Given the description of an element on the screen output the (x, y) to click on. 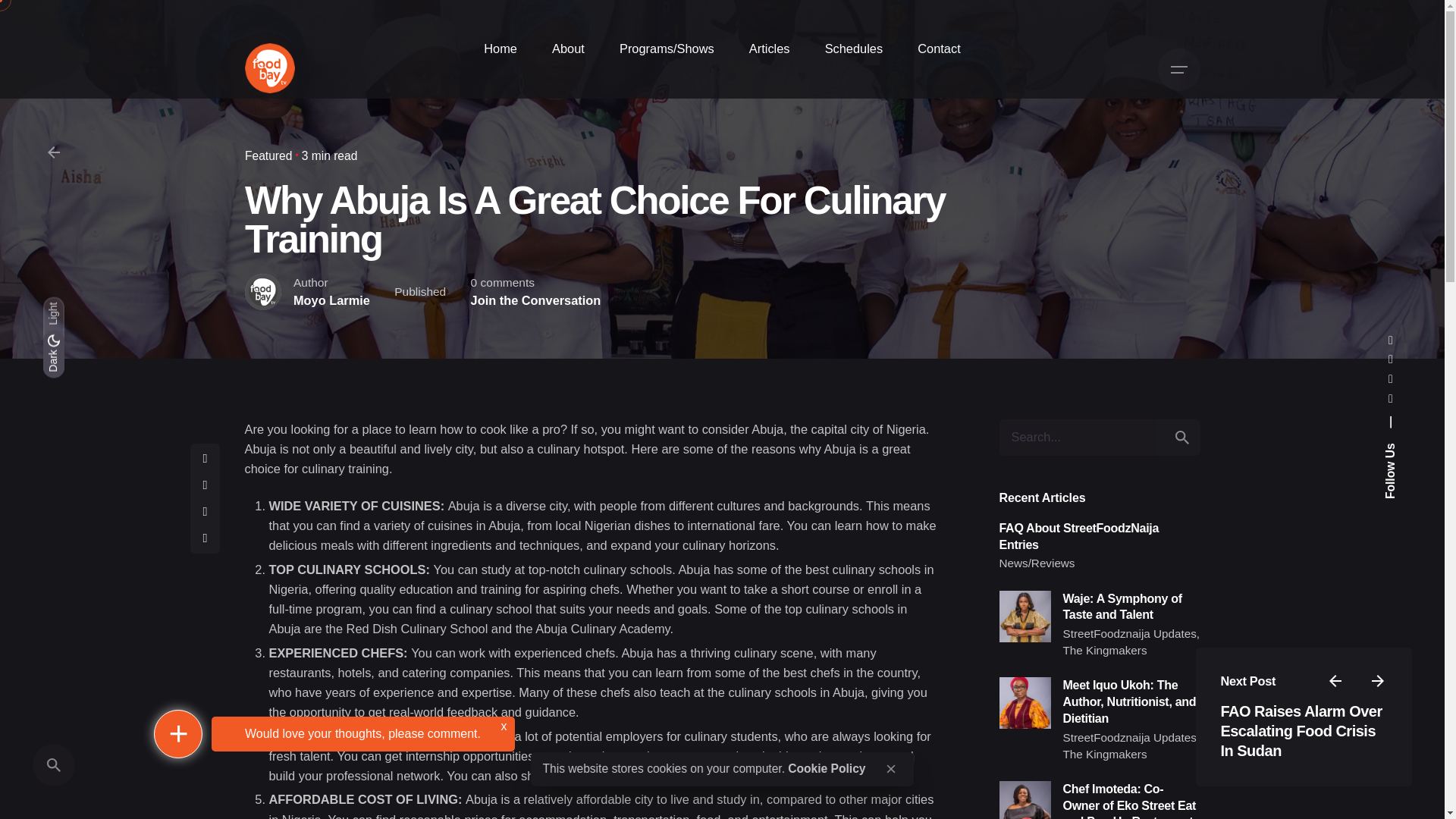
About (568, 49)
Articles (770, 49)
Home (499, 49)
Contact (938, 49)
Schedules (854, 49)
